Given the description of an element on the screen output the (x, y) to click on. 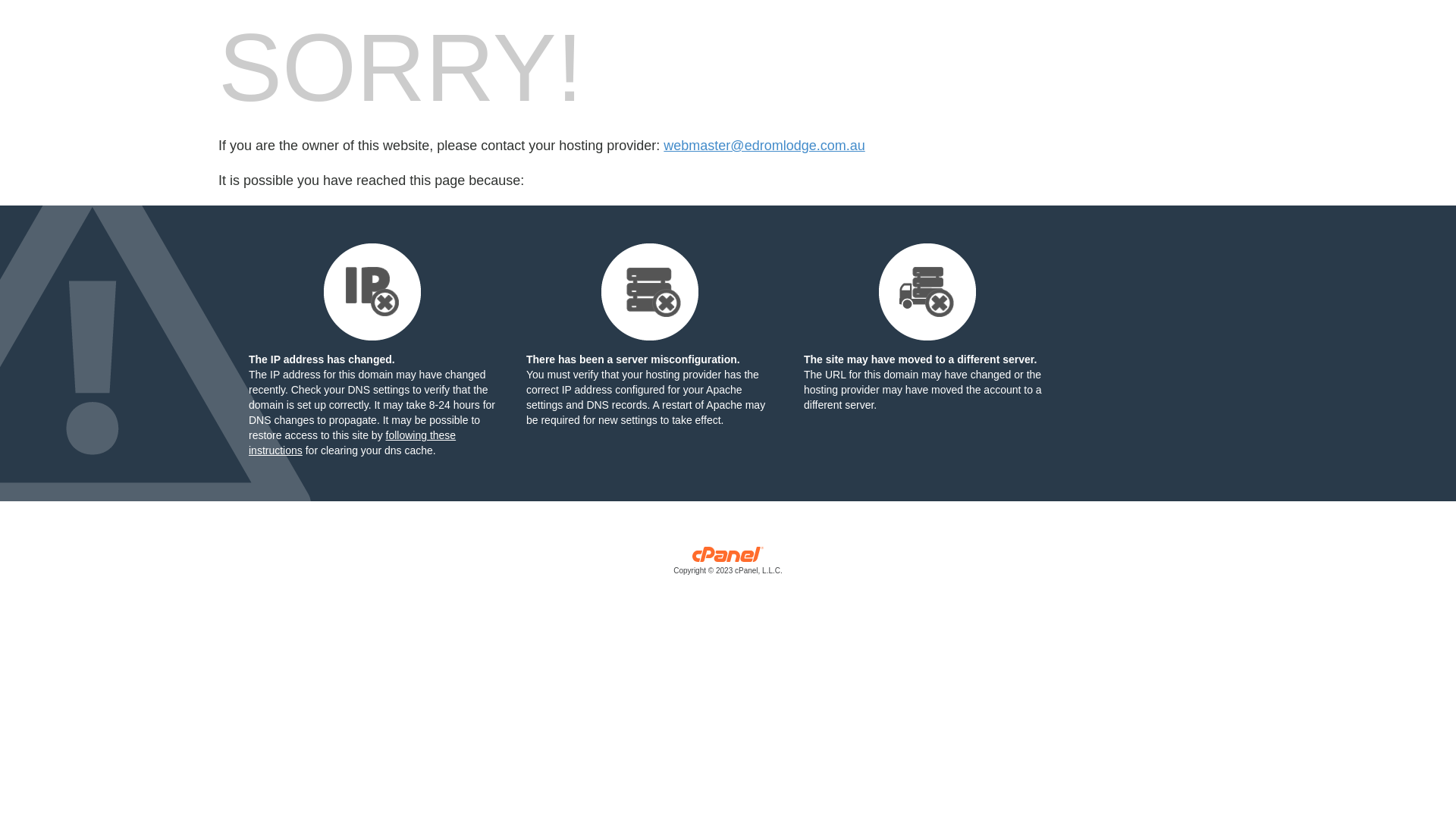
following these instructions Element type: text (351, 442)
webmaster@edromlodge.com.au Element type: text (763, 145)
